Given the description of an element on the screen output the (x, y) to click on. 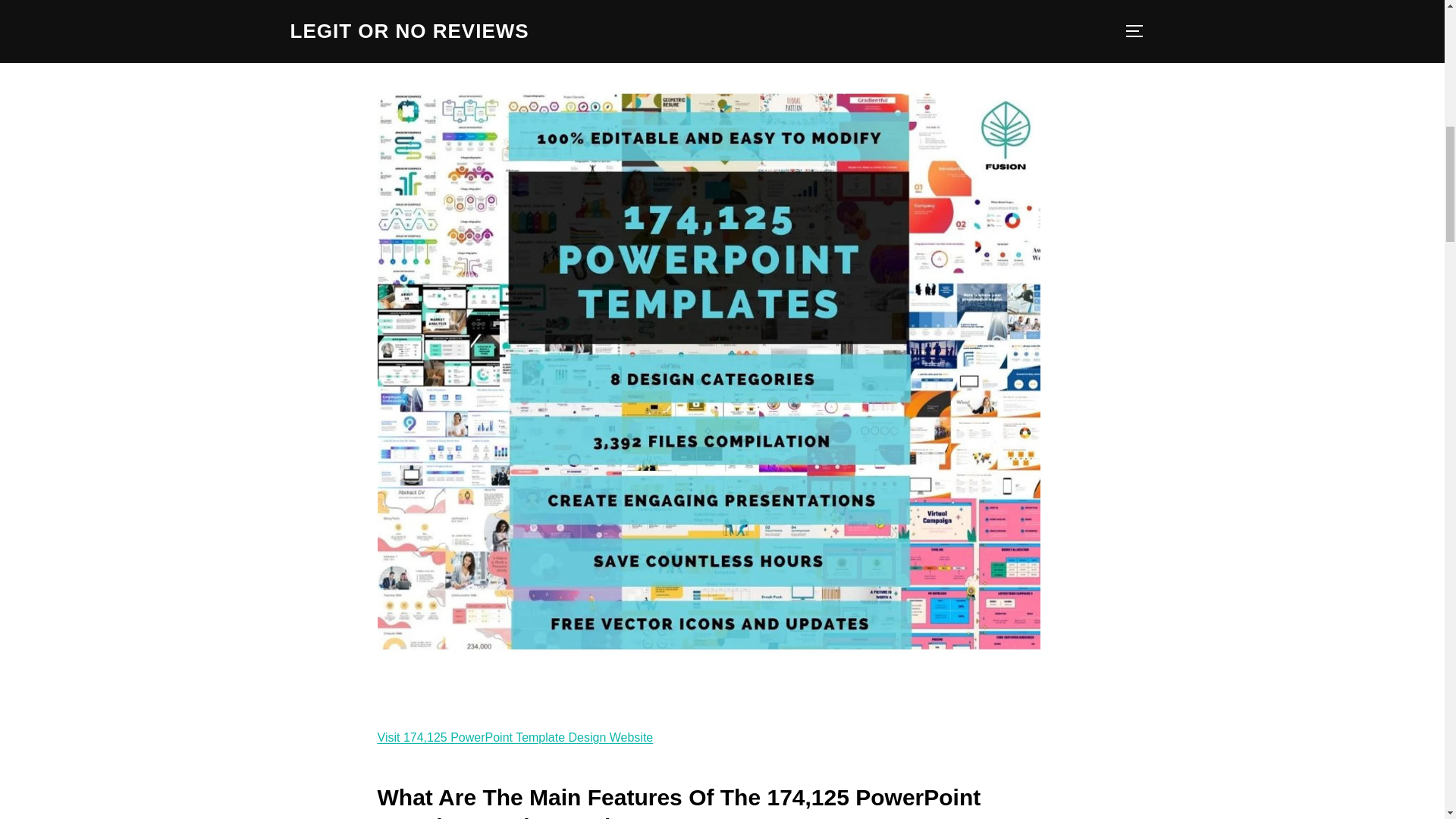
Visit 174,125 PowerPoint Template Design Website (515, 737)
